Given the description of an element on the screen output the (x, y) to click on. 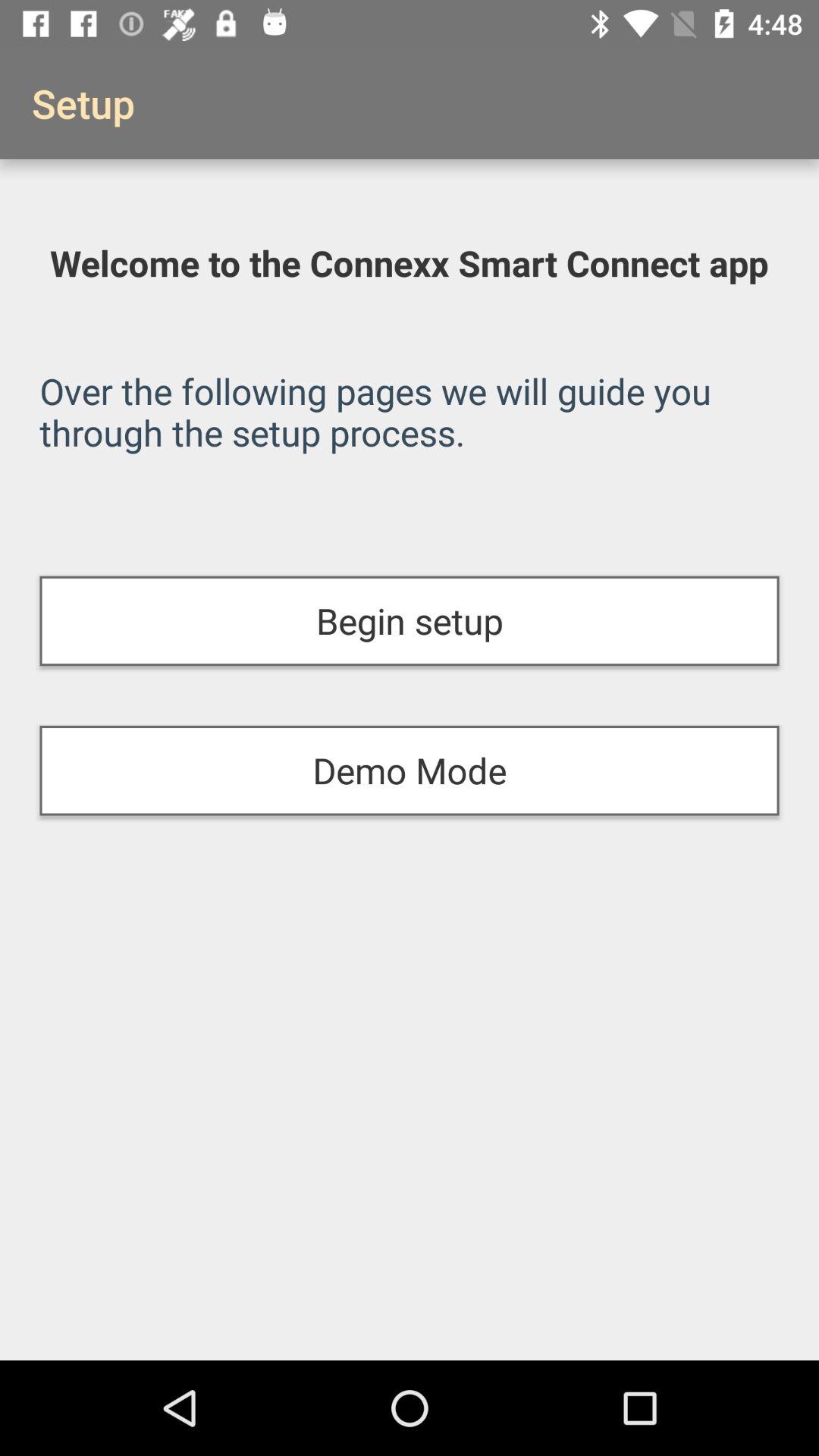
choose icon below begin setup icon (409, 770)
